Given the description of an element on the screen output the (x, y) to click on. 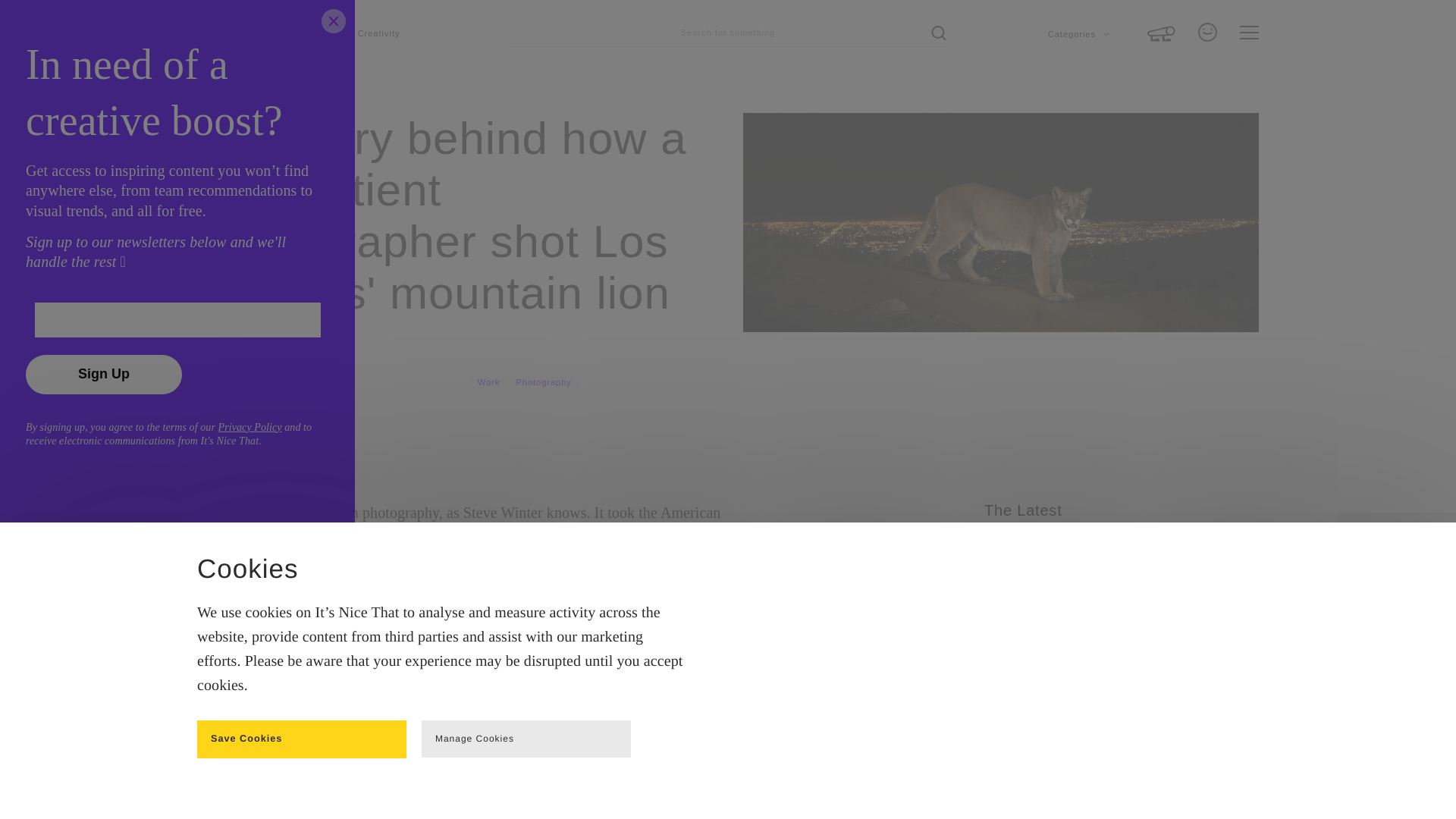
Manage Cookies (526, 738)
Save Cookies (301, 739)
